Given the description of an element on the screen output the (x, y) to click on. 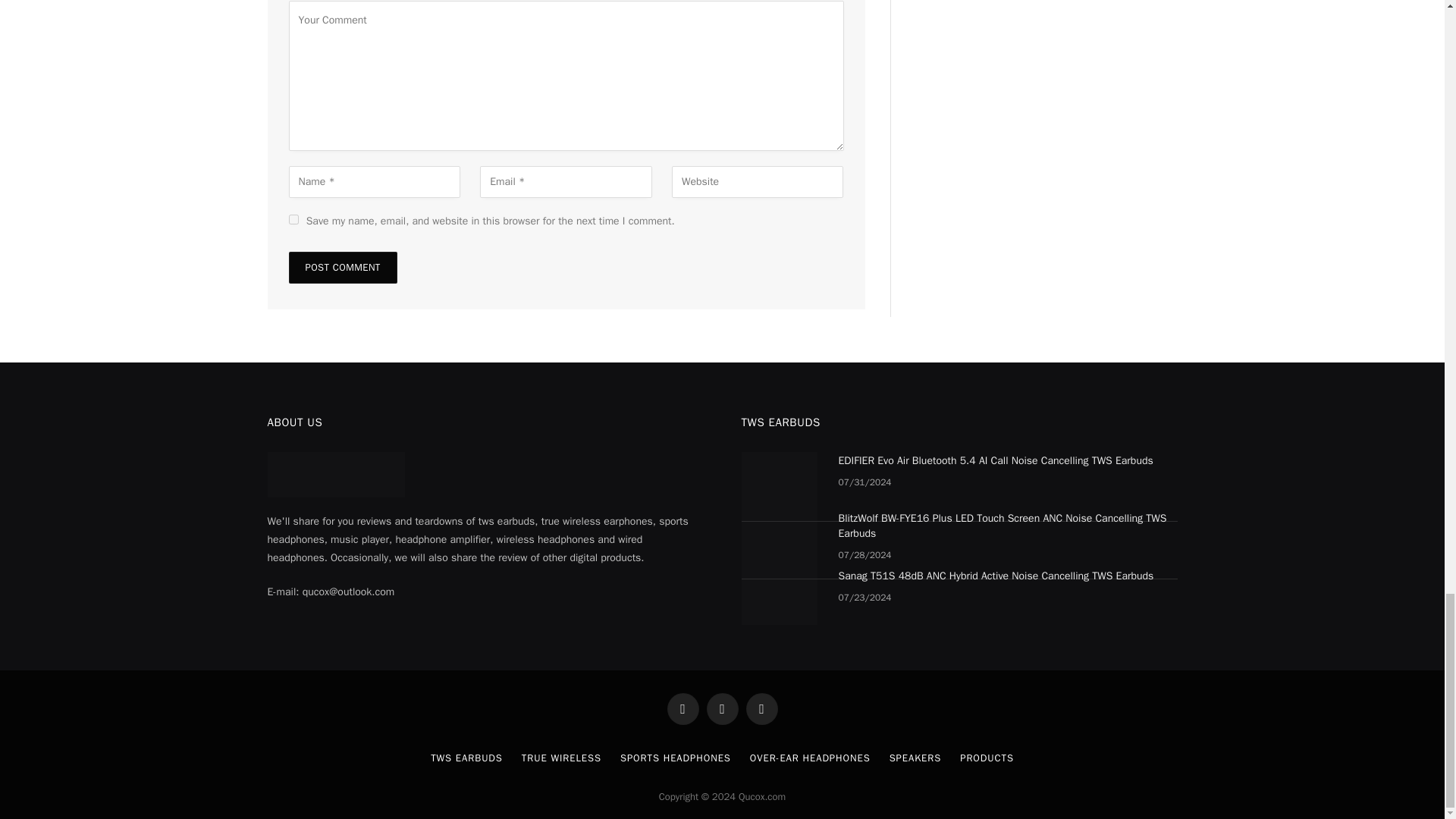
yes (293, 219)
Post Comment (342, 267)
